Given the description of an element on the screen output the (x, y) to click on. 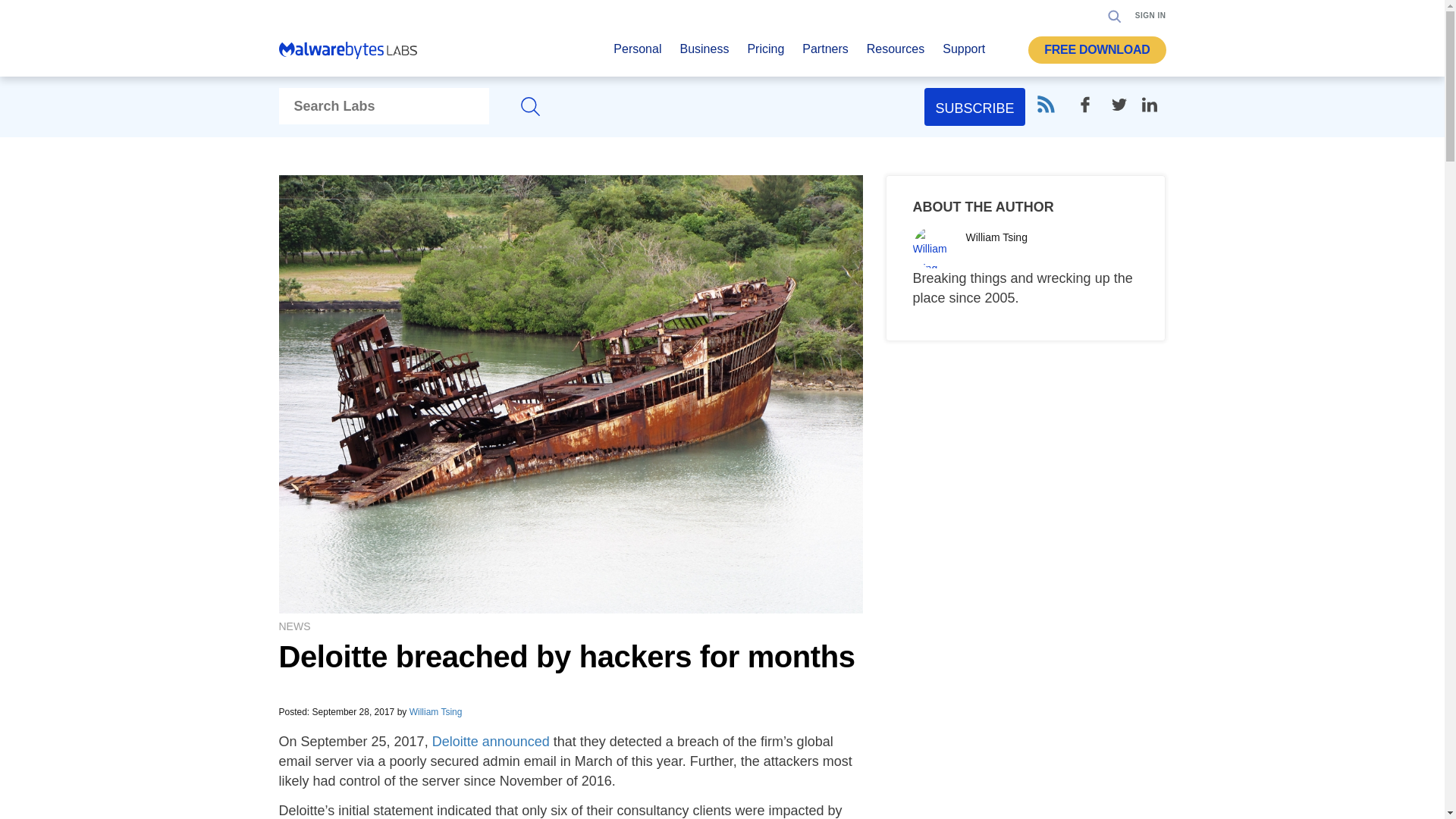
Search (1110, 62)
rss (1044, 104)
Personal (636, 52)
SIGN IN (1150, 15)
Search (1114, 15)
Business (704, 52)
